Given the description of an element on the screen output the (x, y) to click on. 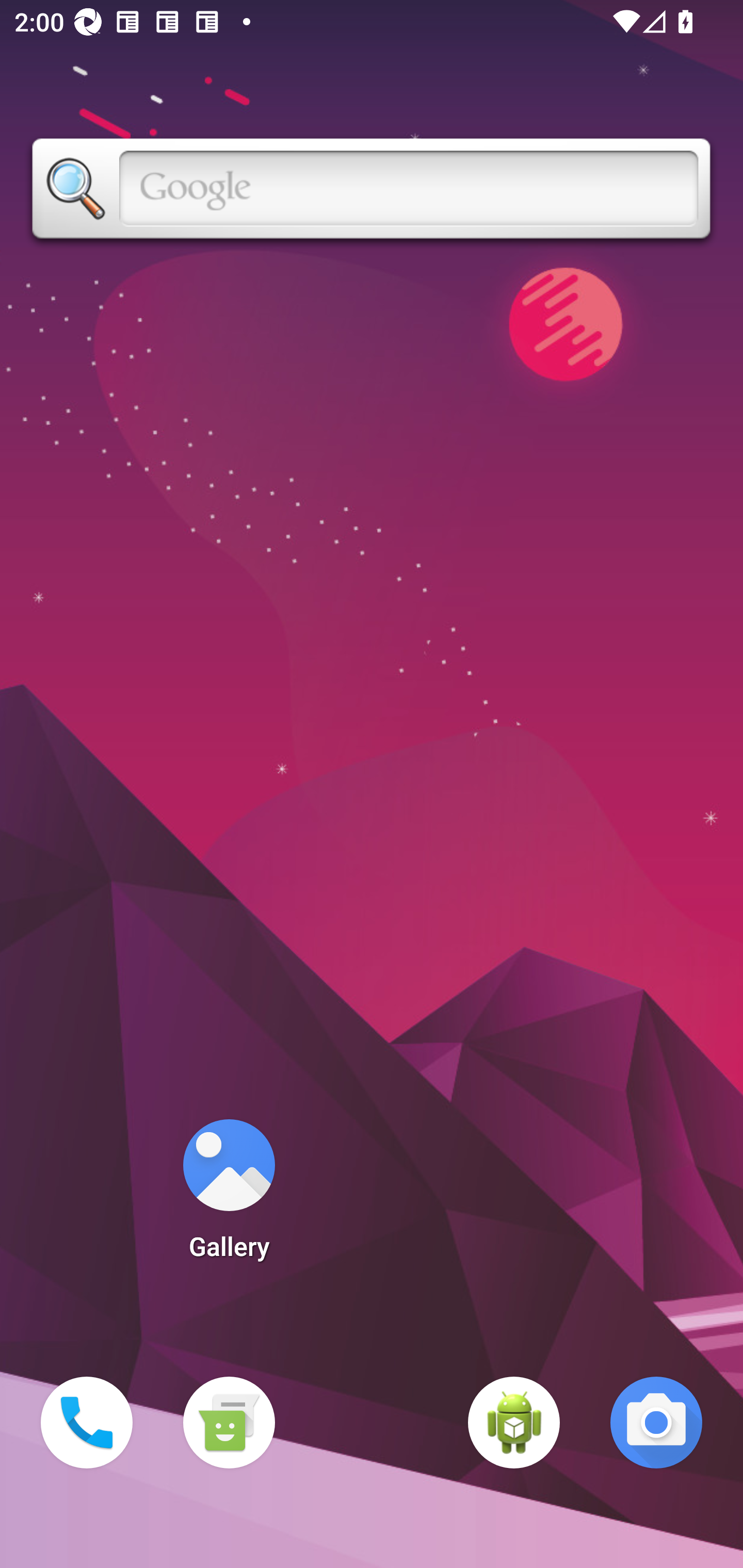
Gallery (228, 1195)
Phone (86, 1422)
Messaging (228, 1422)
WebView Browser Tester (513, 1422)
Camera (656, 1422)
